Given the description of an element on the screen output the (x, y) to click on. 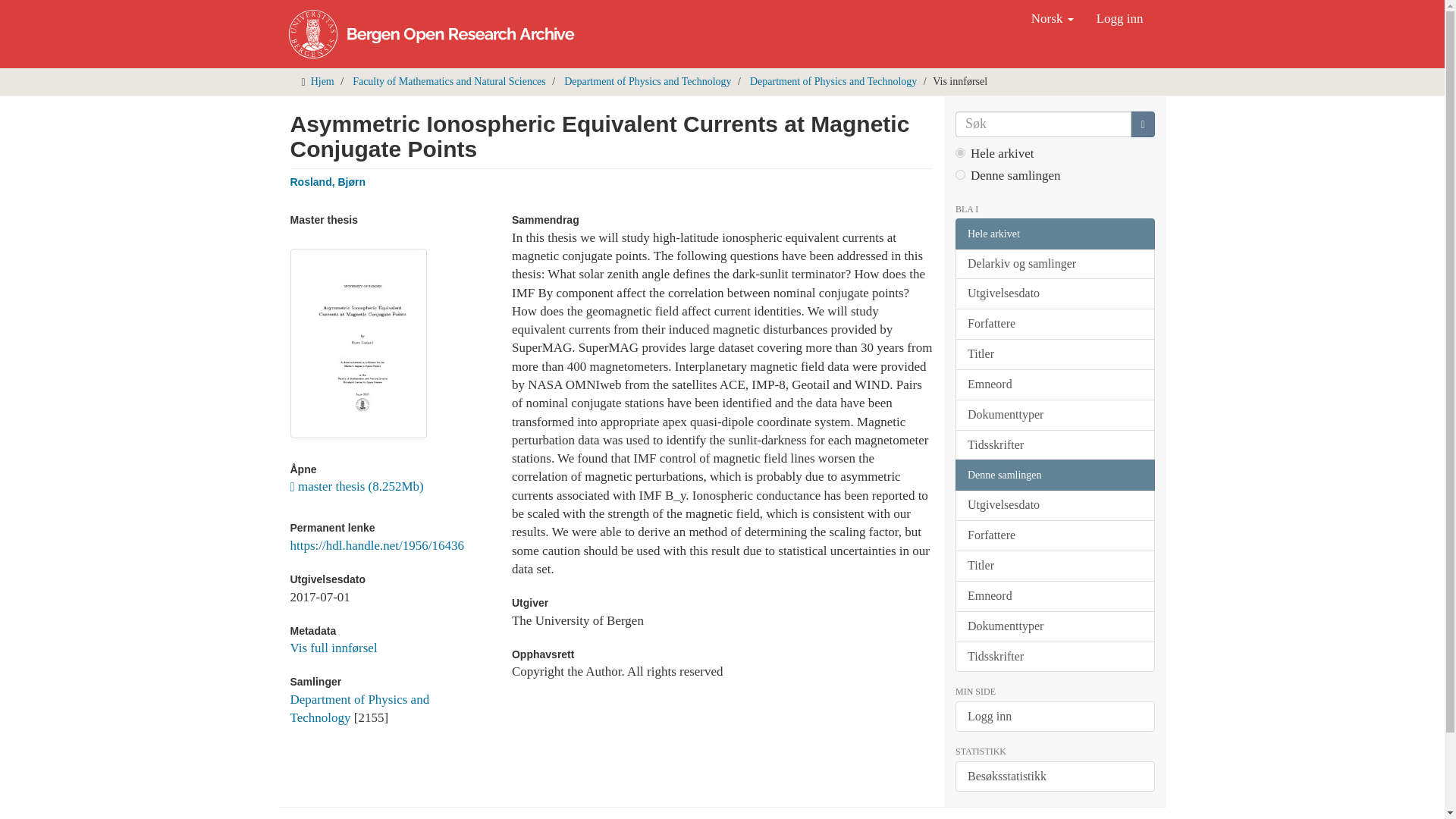
Norsk  (1052, 18)
Emneord (1054, 384)
Delarkiv og samlinger (1054, 264)
Utgivelsesdato (1054, 293)
Department of Physics and Technology (359, 708)
Department of Physics and Technology (647, 81)
Forfattere (1054, 323)
Faculty of Mathematics and Natural Sciences (449, 81)
Department of Physics and Technology (833, 81)
Hele arkivet (1054, 233)
